Given the description of an element on the screen output the (x, y) to click on. 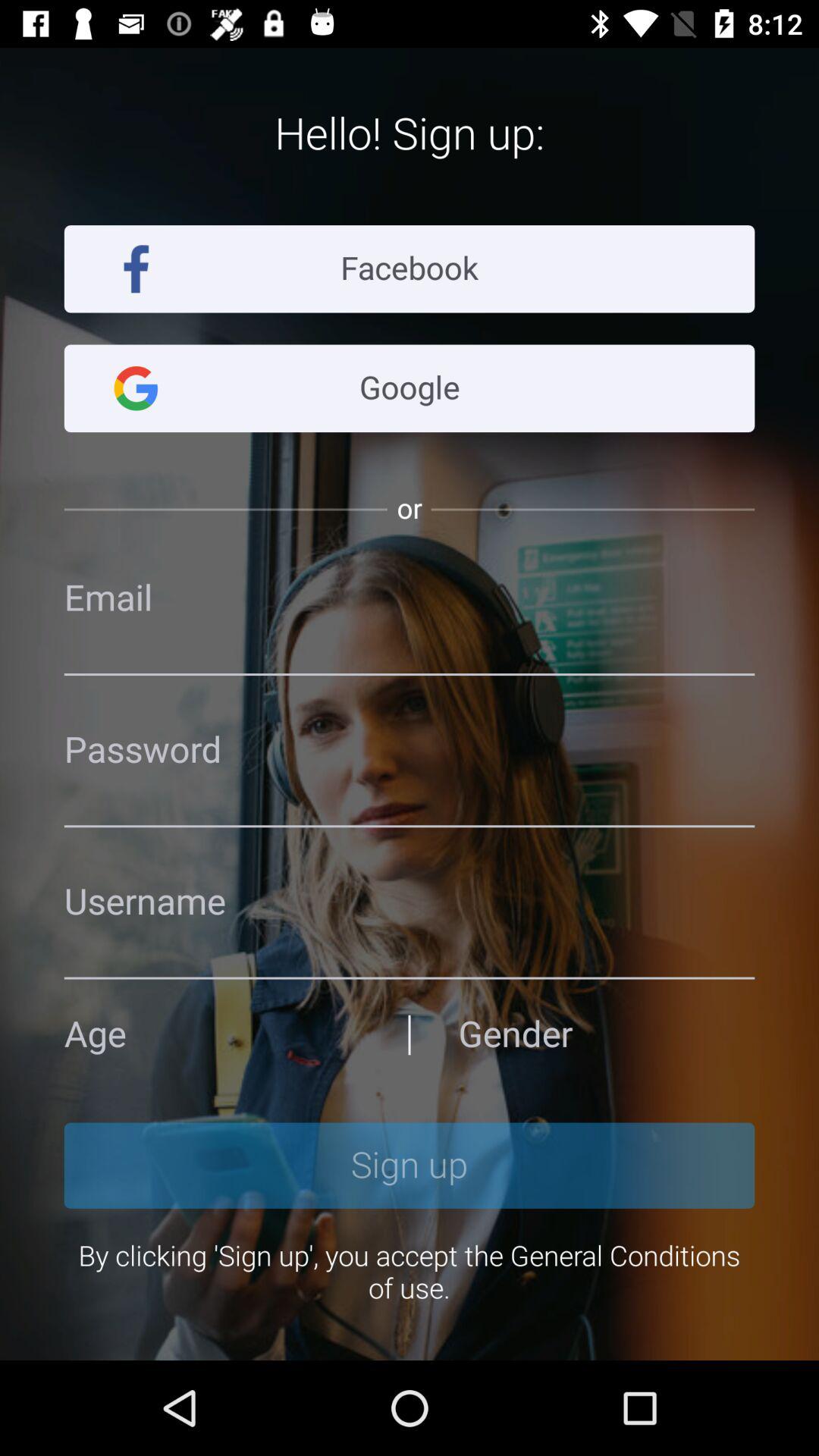
address page (606, 1034)
